Given the description of an element on the screen output the (x, y) to click on. 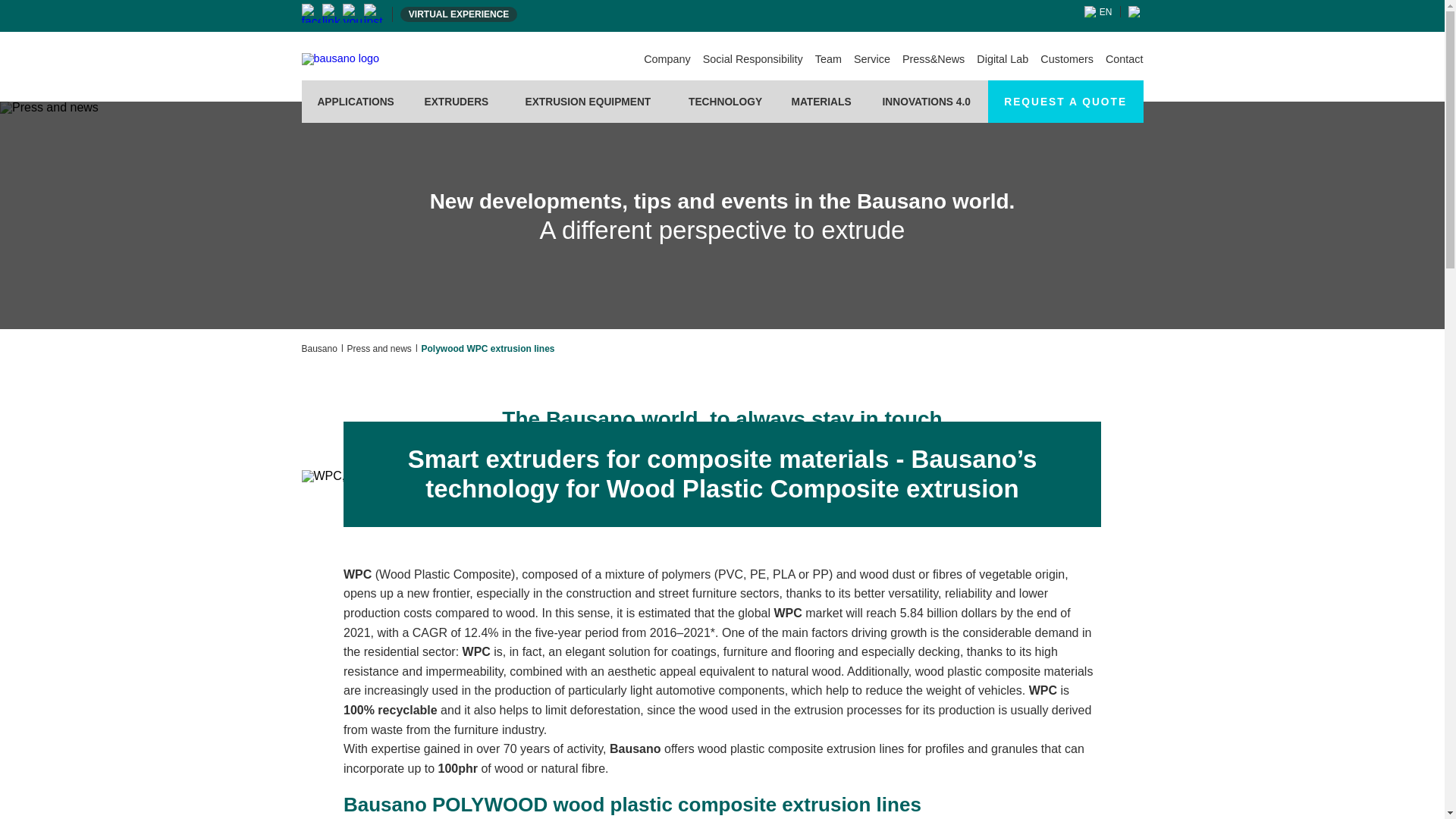
Contact (1123, 59)
Press and news (49, 107)
EXTRUSION EQUIPMENT (587, 101)
Customers (1067, 59)
EXTRUDERS (455, 101)
Service (871, 59)
Team (828, 59)
Company (666, 59)
APPLICATIONS (355, 101)
Digital Lab (1001, 59)
Social Responsibility (753, 59)
WPC, polywood, nextmover, orquestra (411, 476)
